Given the description of an element on the screen output the (x, y) to click on. 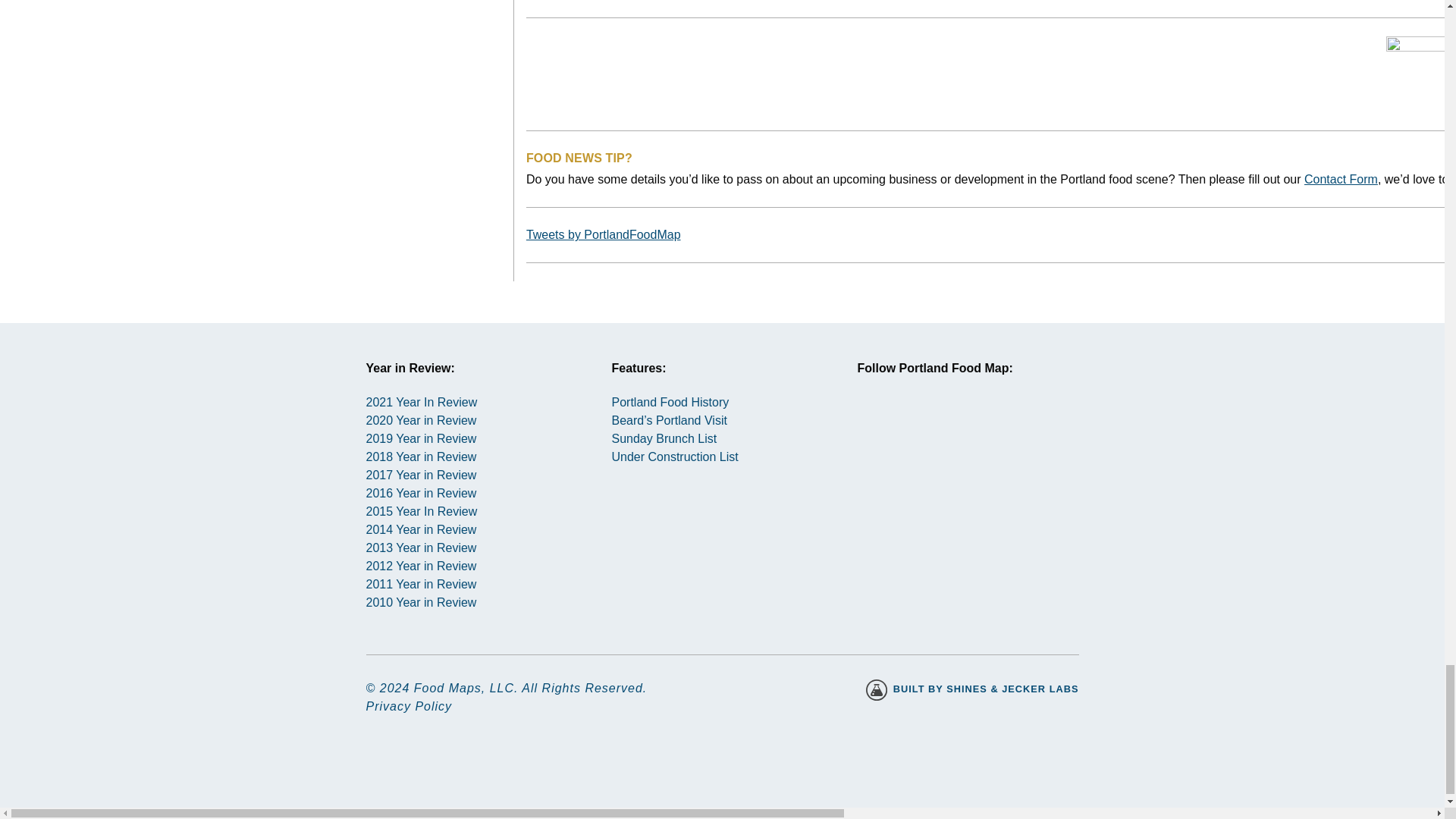
RSS icon (992, 427)
Instagram icon (882, 427)
Twitter icon (938, 427)
